Given the description of an element on the screen output the (x, y) to click on. 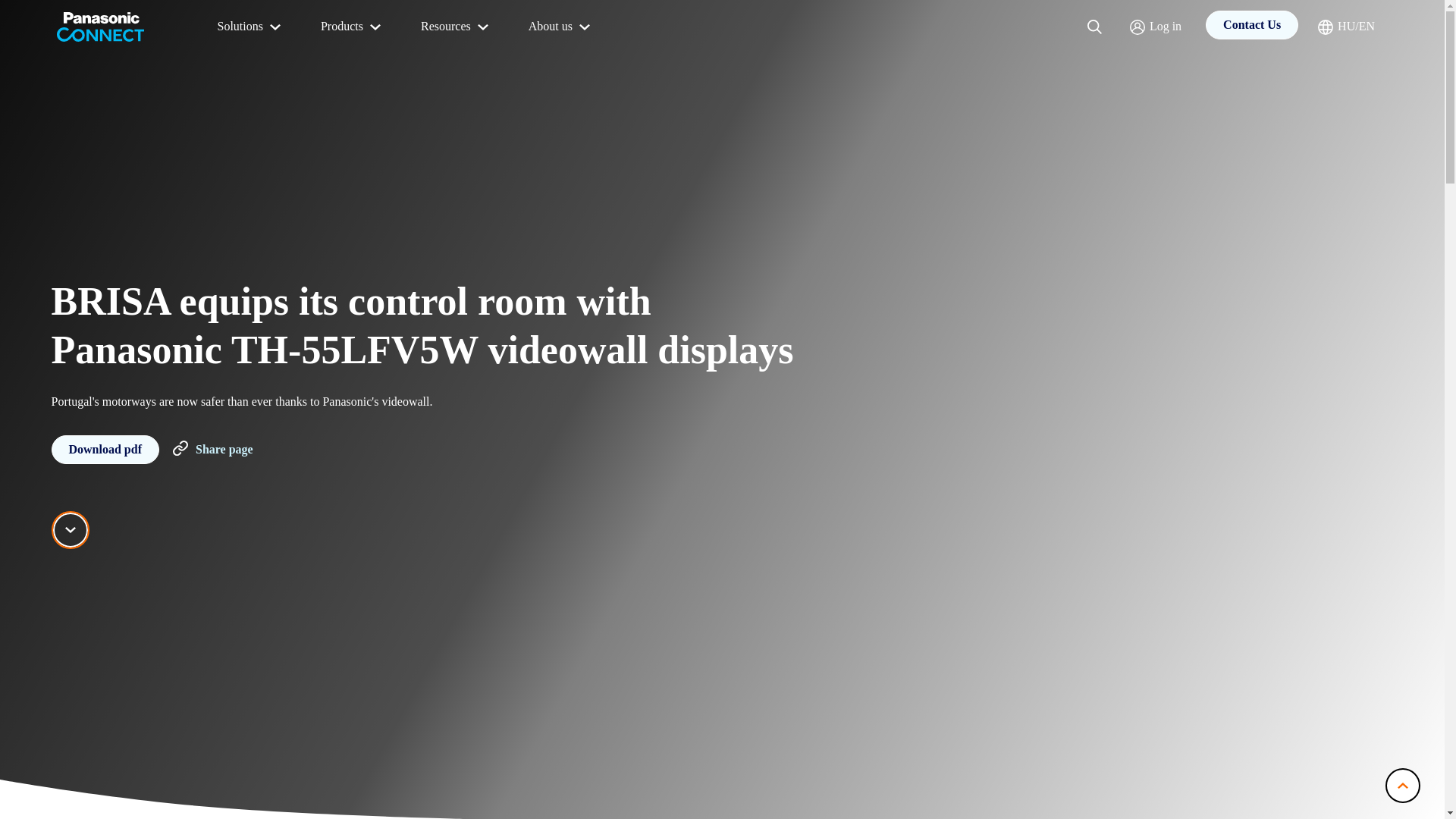
Solutions (250, 26)
Resources (455, 26)
Products (352, 26)
